Given the description of an element on the screen output the (x, y) to click on. 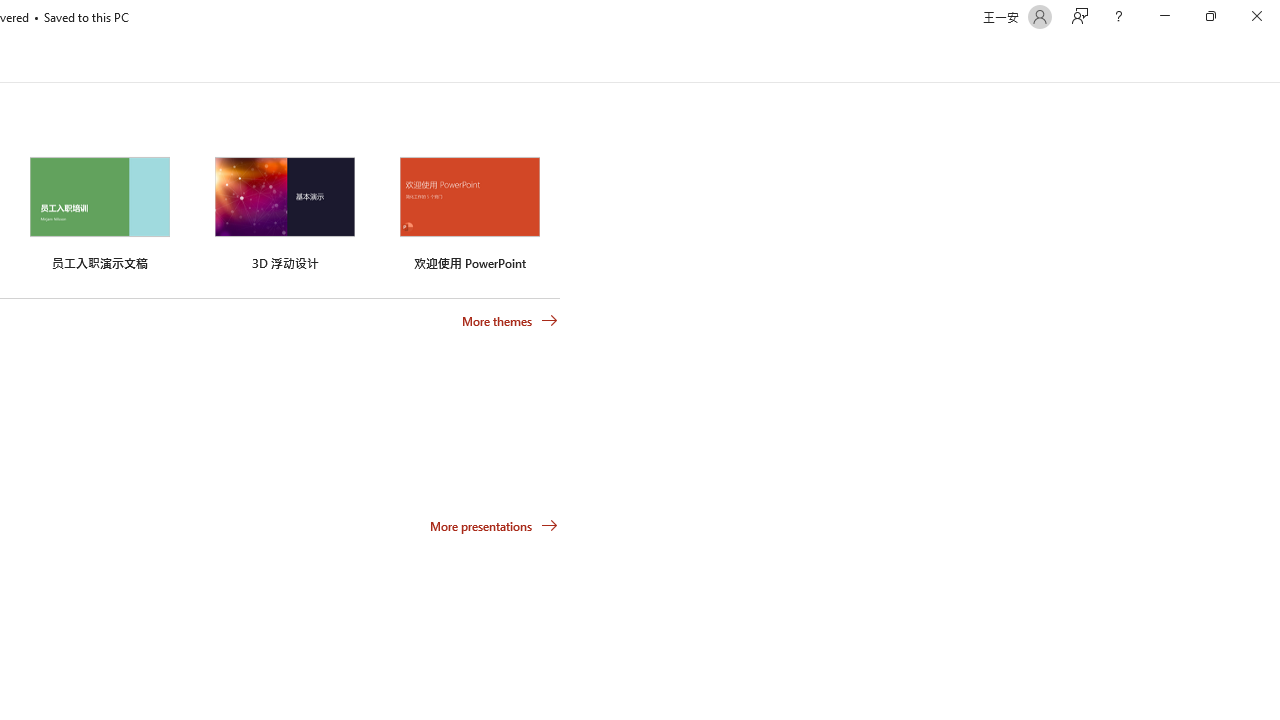
More presentations (493, 525)
More themes (509, 321)
